Given the description of an element on the screen output the (x, y) to click on. 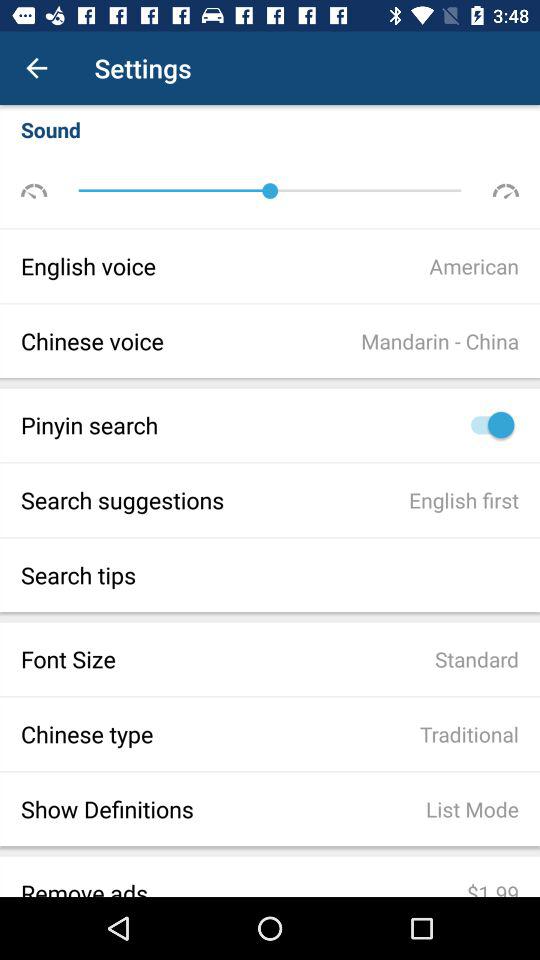
press item next to the settings icon (36, 68)
